Given the description of an element on the screen output the (x, y) to click on. 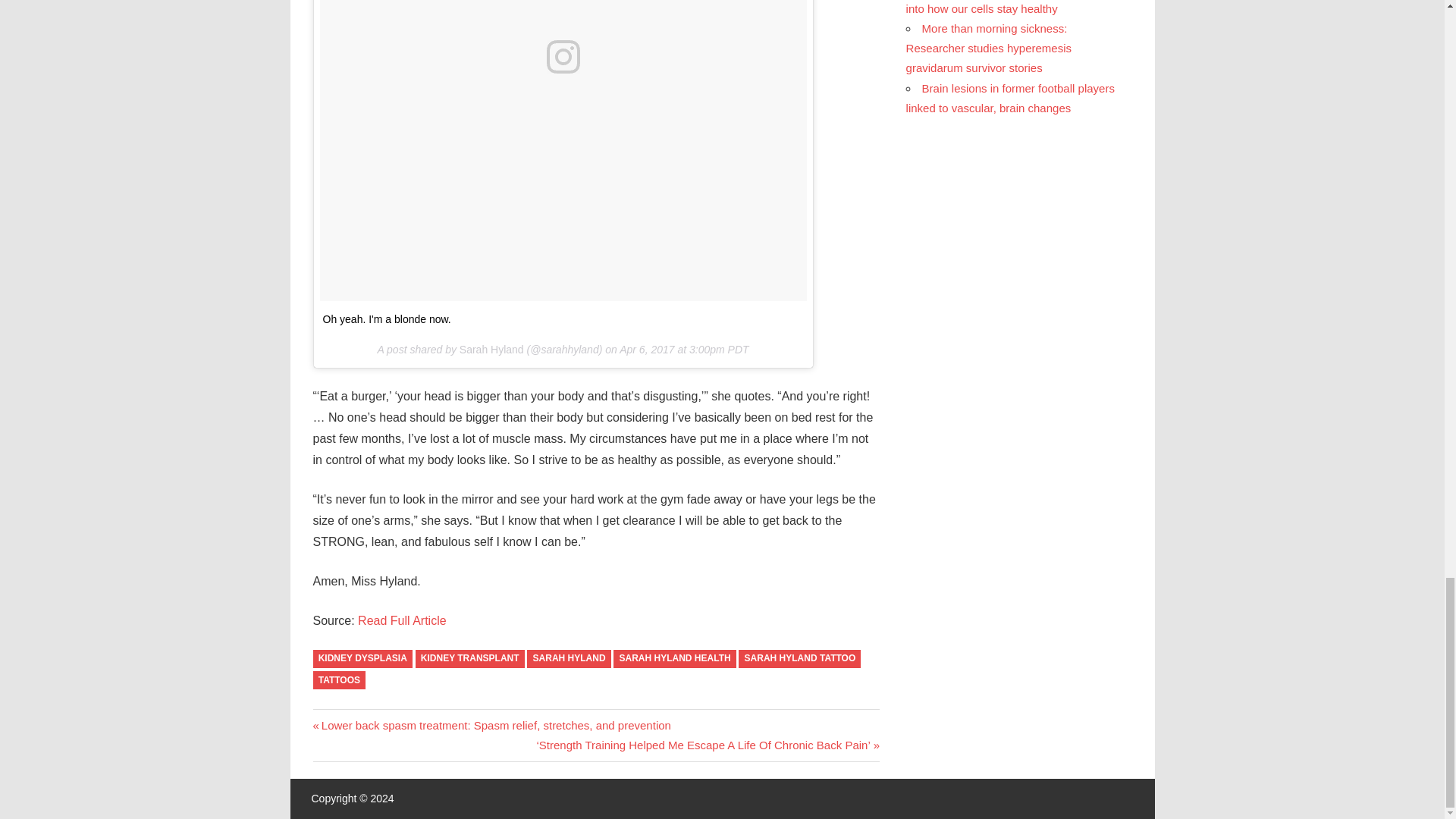
SARAH HYLAND HEALTH (673, 659)
Oh yeah. I'm a blonde now. (387, 318)
Sarah Hyland (492, 349)
SARAH HYLAND (568, 659)
SARAH HYLAND TATTOO (799, 659)
TATTOOS (339, 680)
Read Full Article (402, 620)
KIDNEY TRANSPLANT (469, 659)
KIDNEY DYSPLASIA (362, 659)
